Given the description of an element on the screen output the (x, y) to click on. 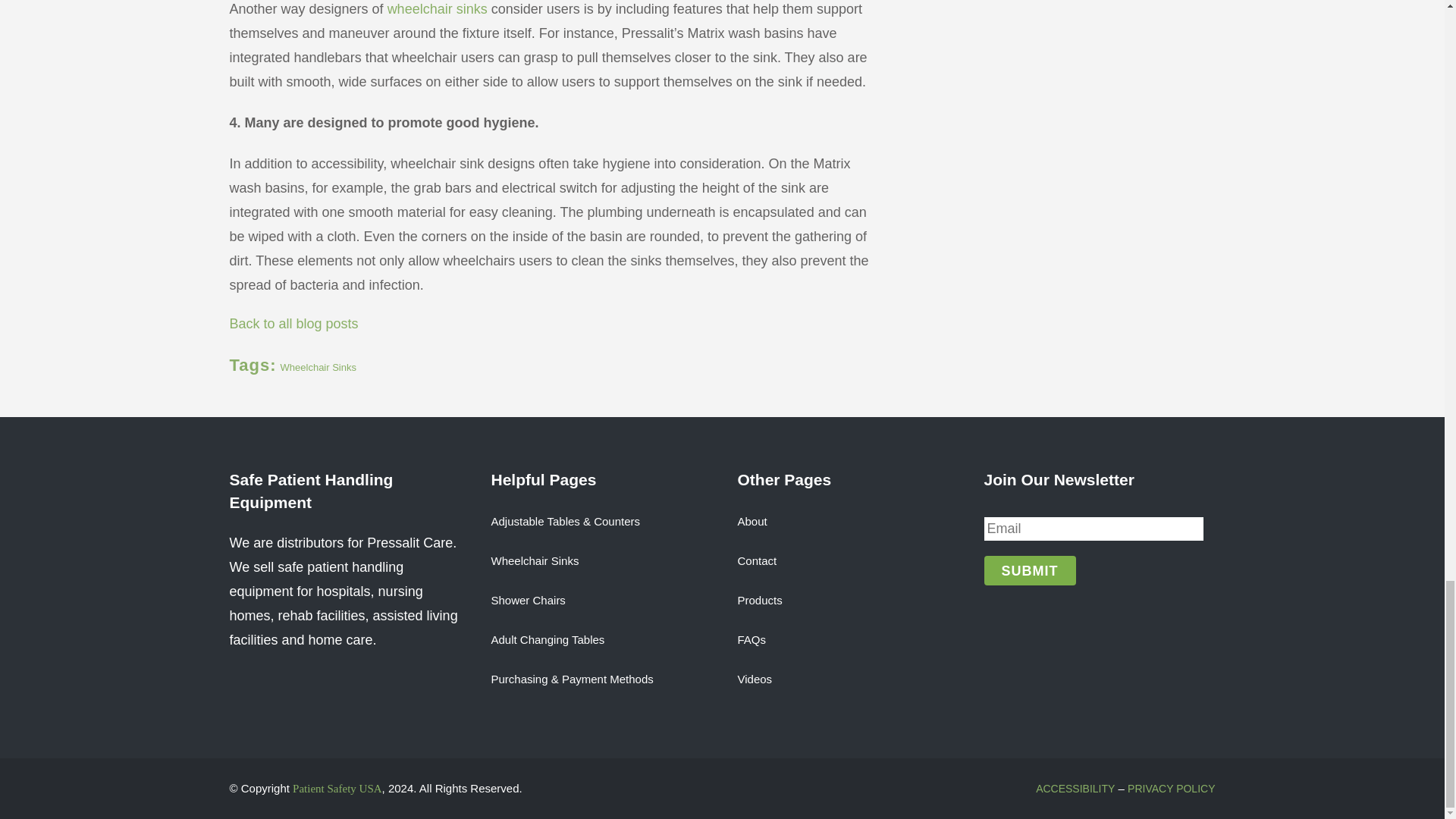
Submit (1029, 570)
